Given the description of an element on the screen output the (x, y) to click on. 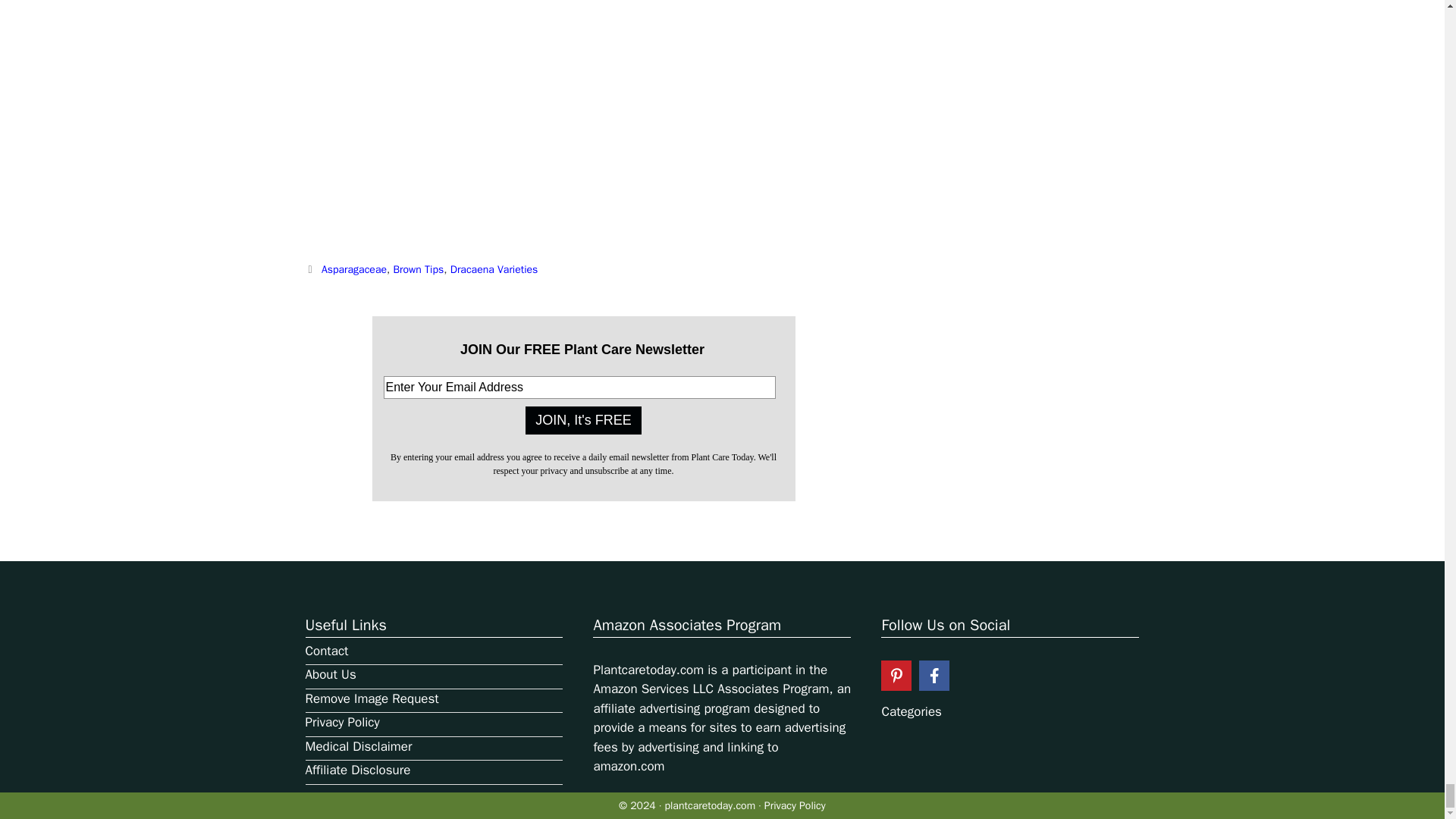
Enter Your Email Address (580, 386)
JOIN, It's FREE (582, 420)
